Given the description of an element on the screen output the (x, y) to click on. 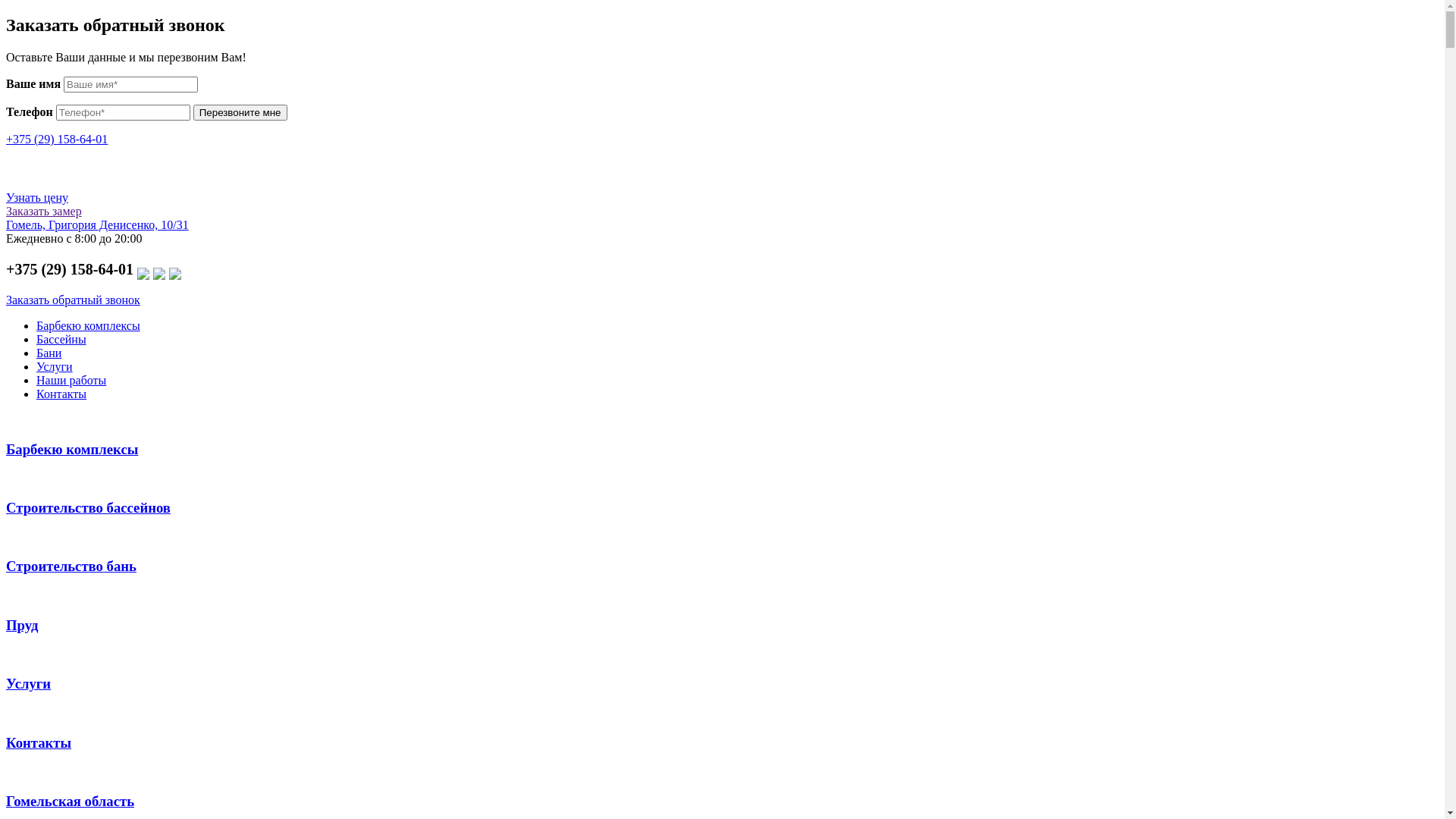
+375 (29) 158-64-01 Element type: text (56, 138)
